Given the description of an element on the screen output the (x, y) to click on. 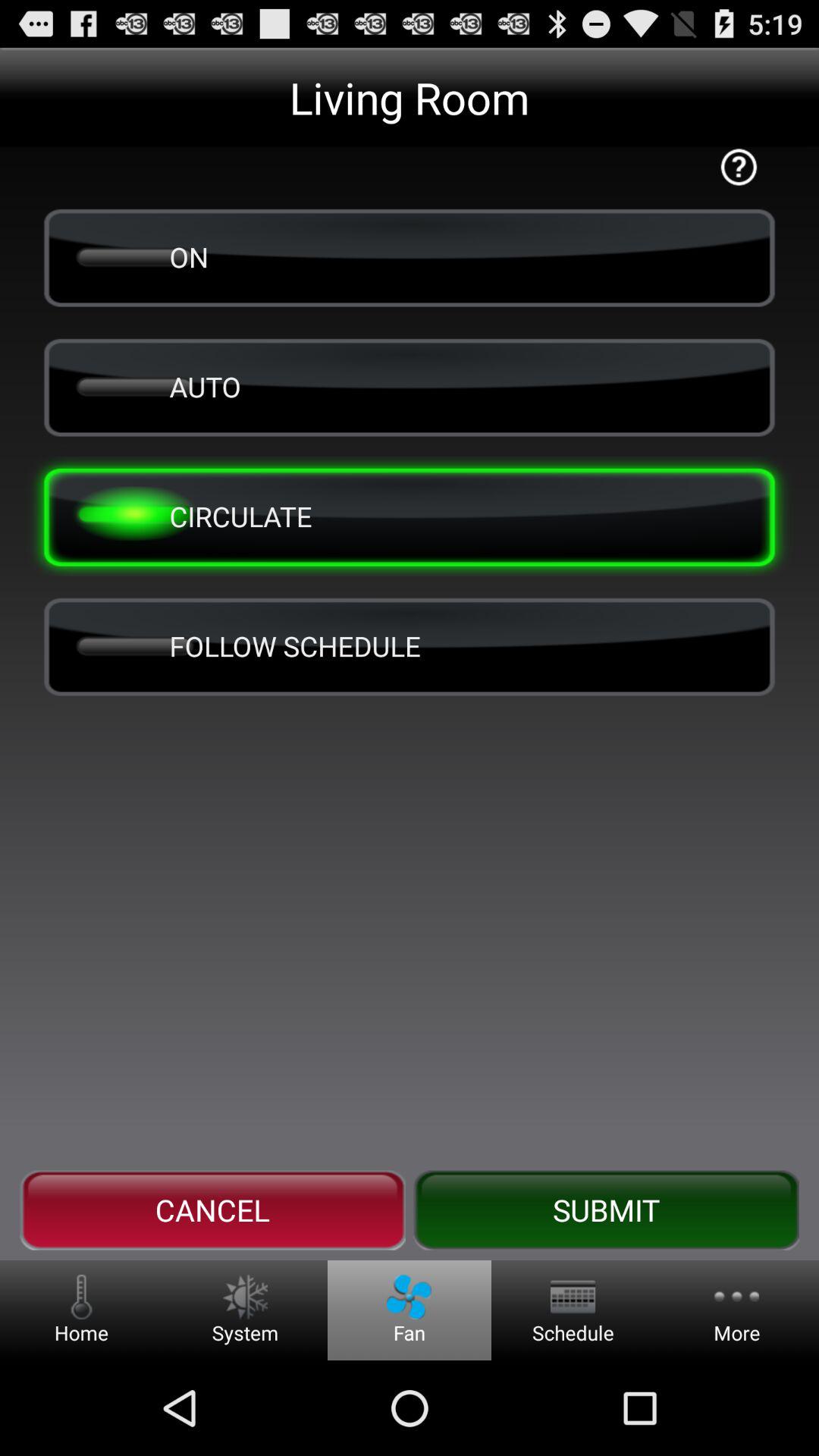
open the on button (409, 256)
